Given the description of an element on the screen output the (x, y) to click on. 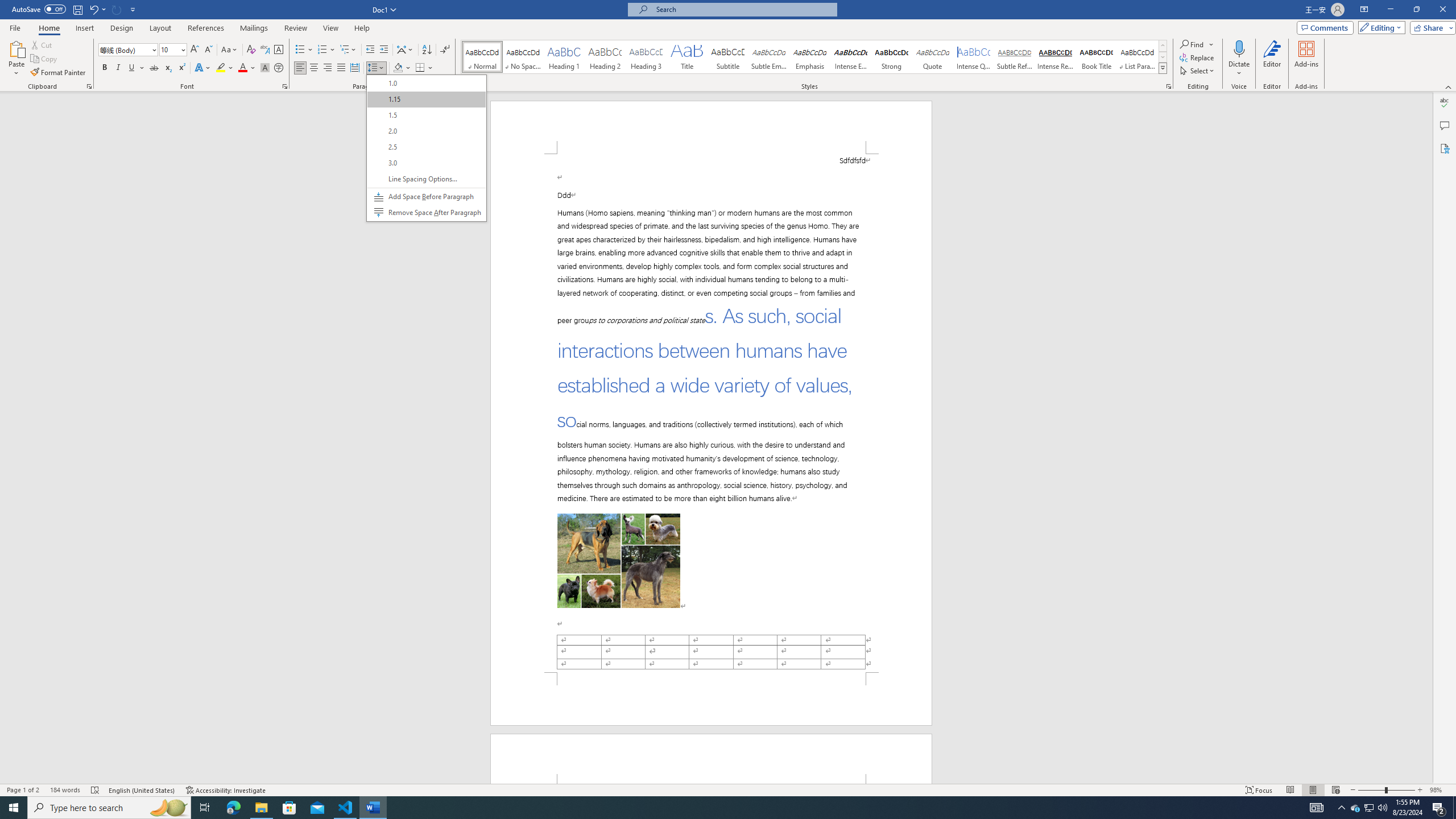
Class: NetUIScrollBar (1427, 437)
Office Clipboard... (88, 85)
Styles (1162, 67)
Grow Font (193, 49)
Running applications (717, 807)
&Line and Paragraph Spacing (426, 147)
Undo Apply Quick Style Set (92, 9)
